Given the description of an element on the screen output the (x, y) to click on. 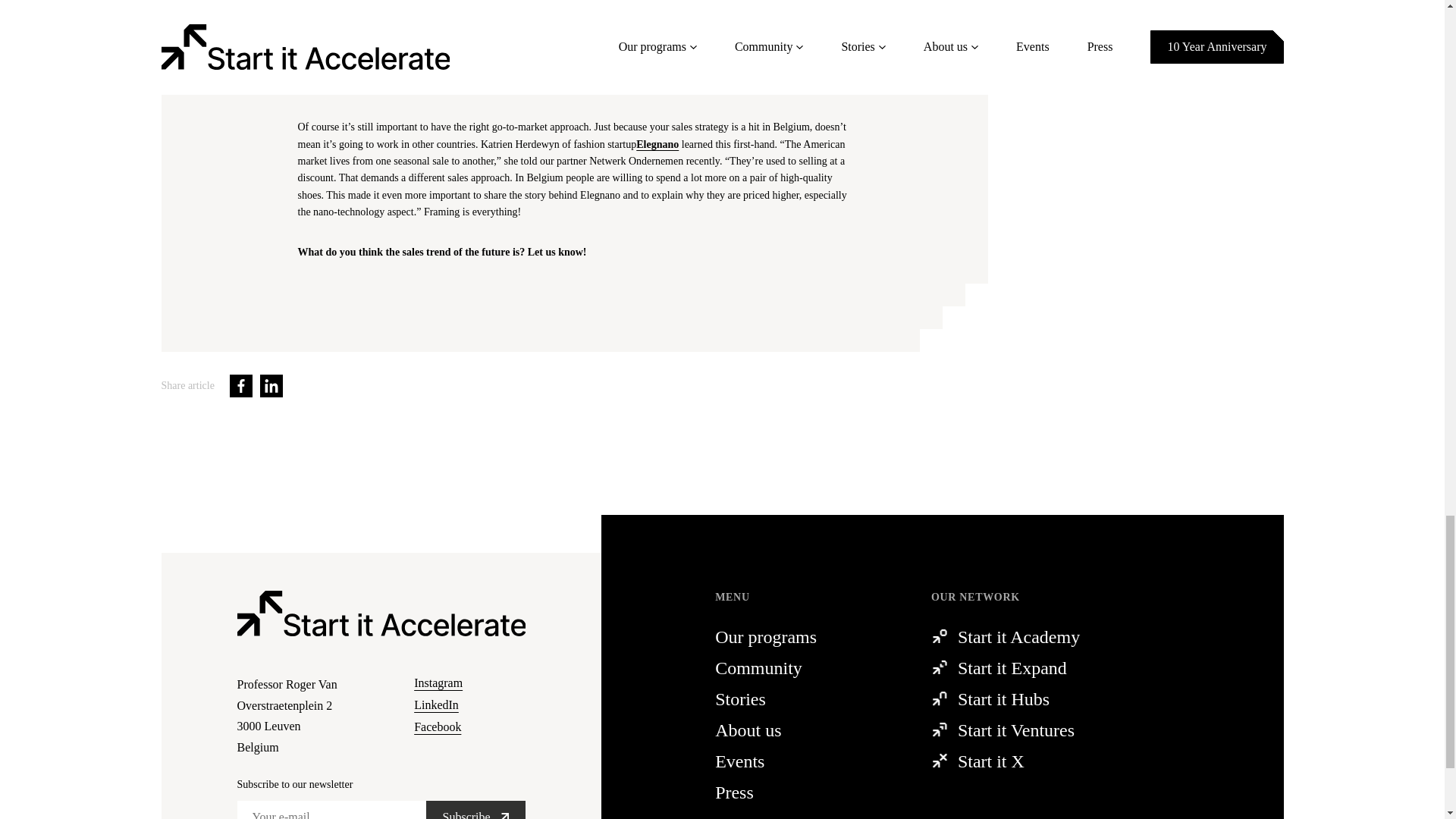
About us (794, 729)
LinkedIn (271, 385)
Elegnano (657, 143)
LinkedIn (469, 705)
Facebook (469, 727)
Stories (794, 698)
Instagram (469, 683)
Our programs (794, 636)
Community (305, 715)
Subscribe (794, 667)
Facebook (475, 809)
